Given the description of an element on the screen output the (x, y) to click on. 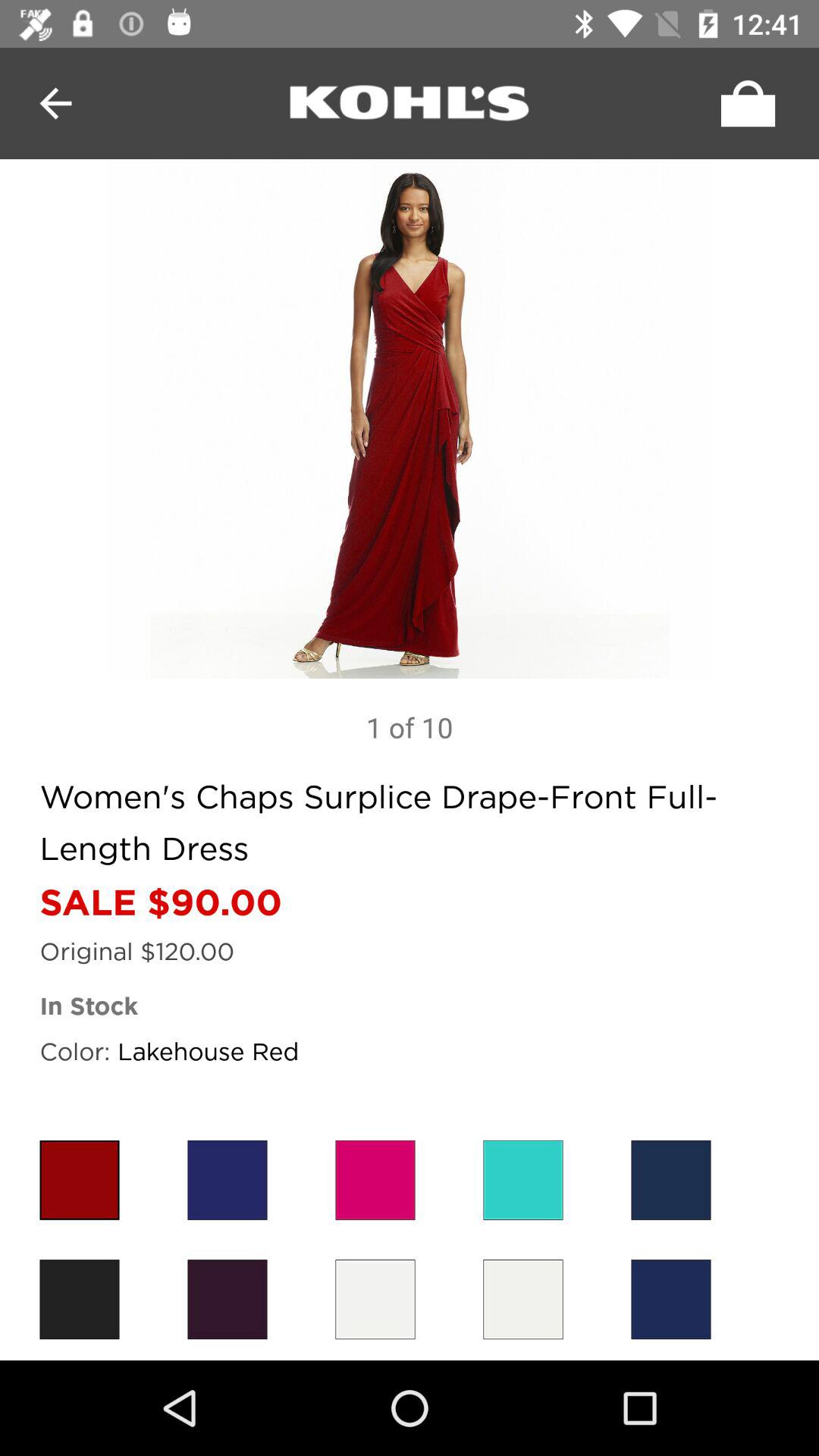
select different color (523, 1299)
